Given the description of an element on the screen output the (x, y) to click on. 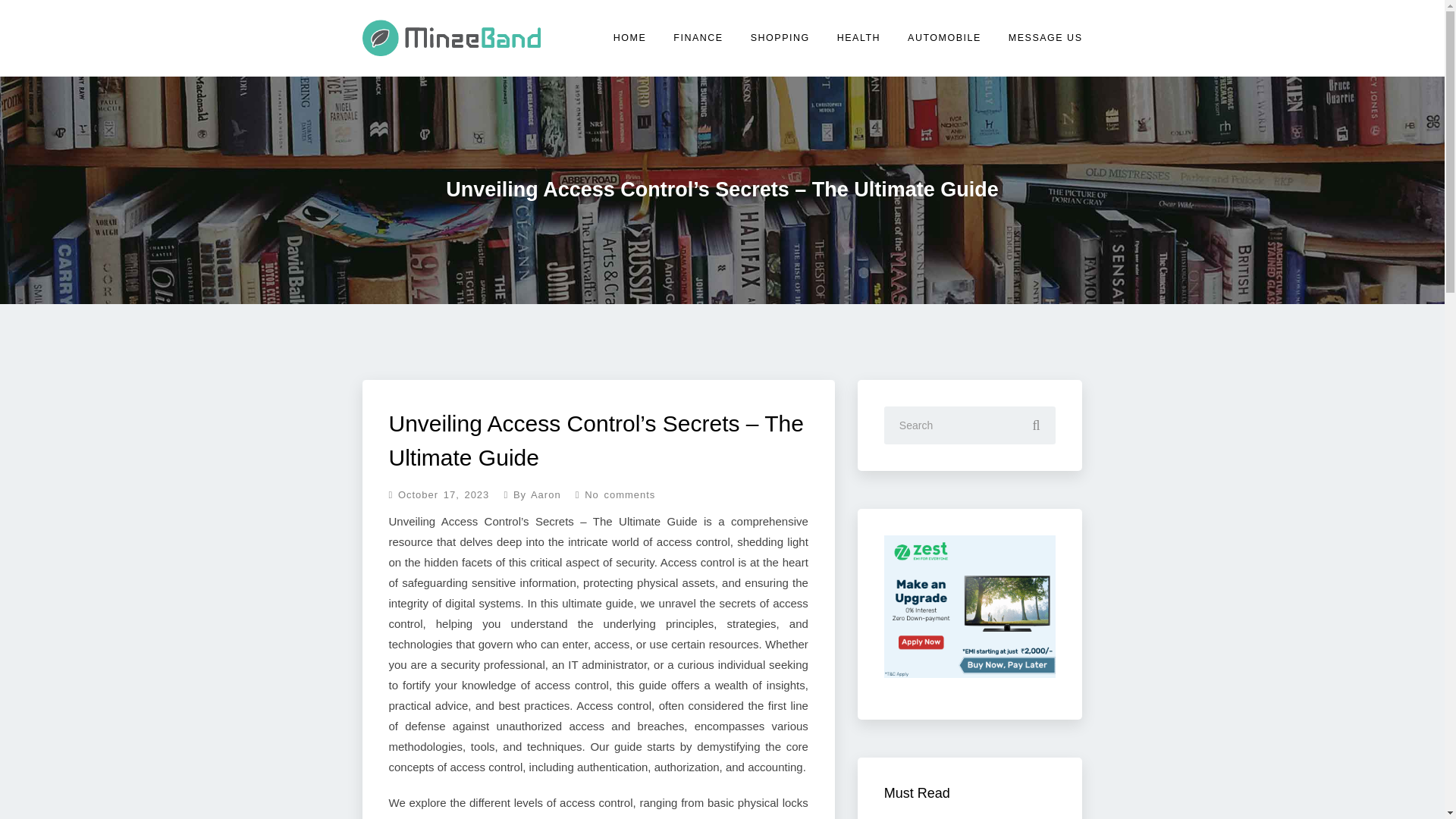
HEALTH (857, 38)
SHOPPING (779, 38)
AUTOMOBILE (944, 38)
MESSAGE US (1043, 38)
No comments (610, 493)
HOME (630, 38)
FINANCE (697, 38)
